Given the description of an element on the screen output the (x, y) to click on. 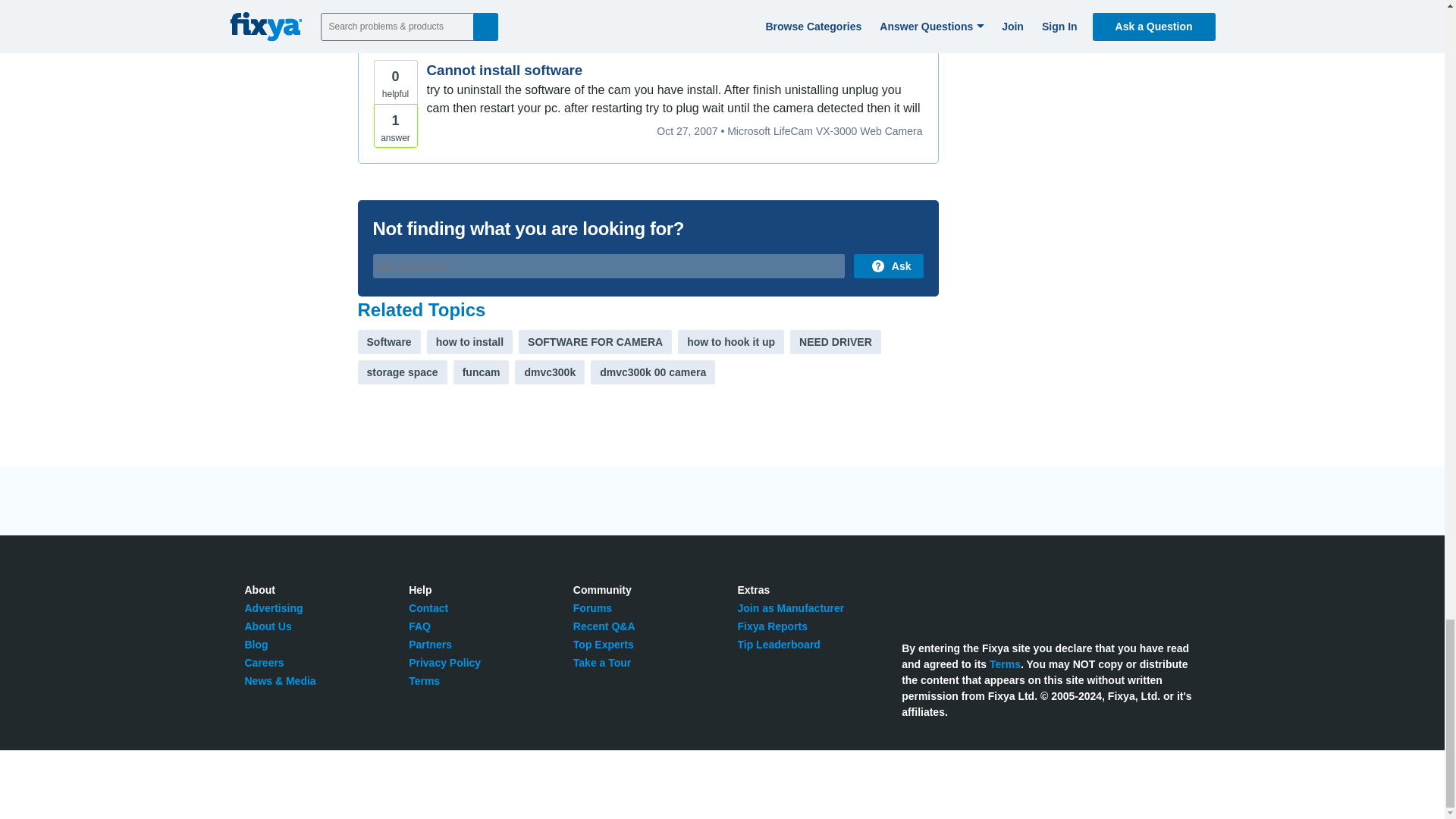
Ask (888, 265)
